Given the description of an element on the screen output the (x, y) to click on. 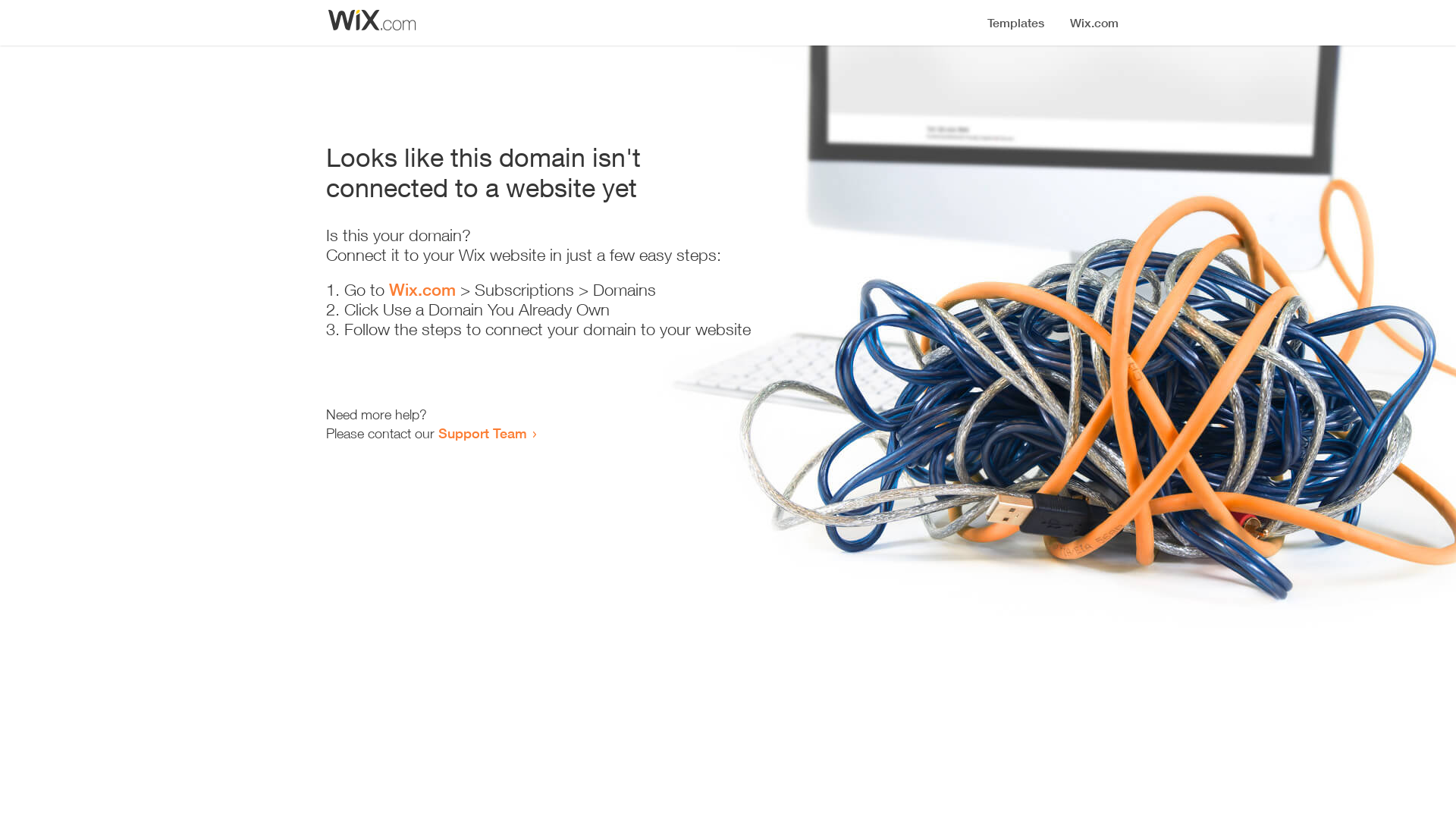
Wix.com Element type: text (422, 289)
Support Team Element type: text (482, 432)
